Given the description of an element on the screen output the (x, y) to click on. 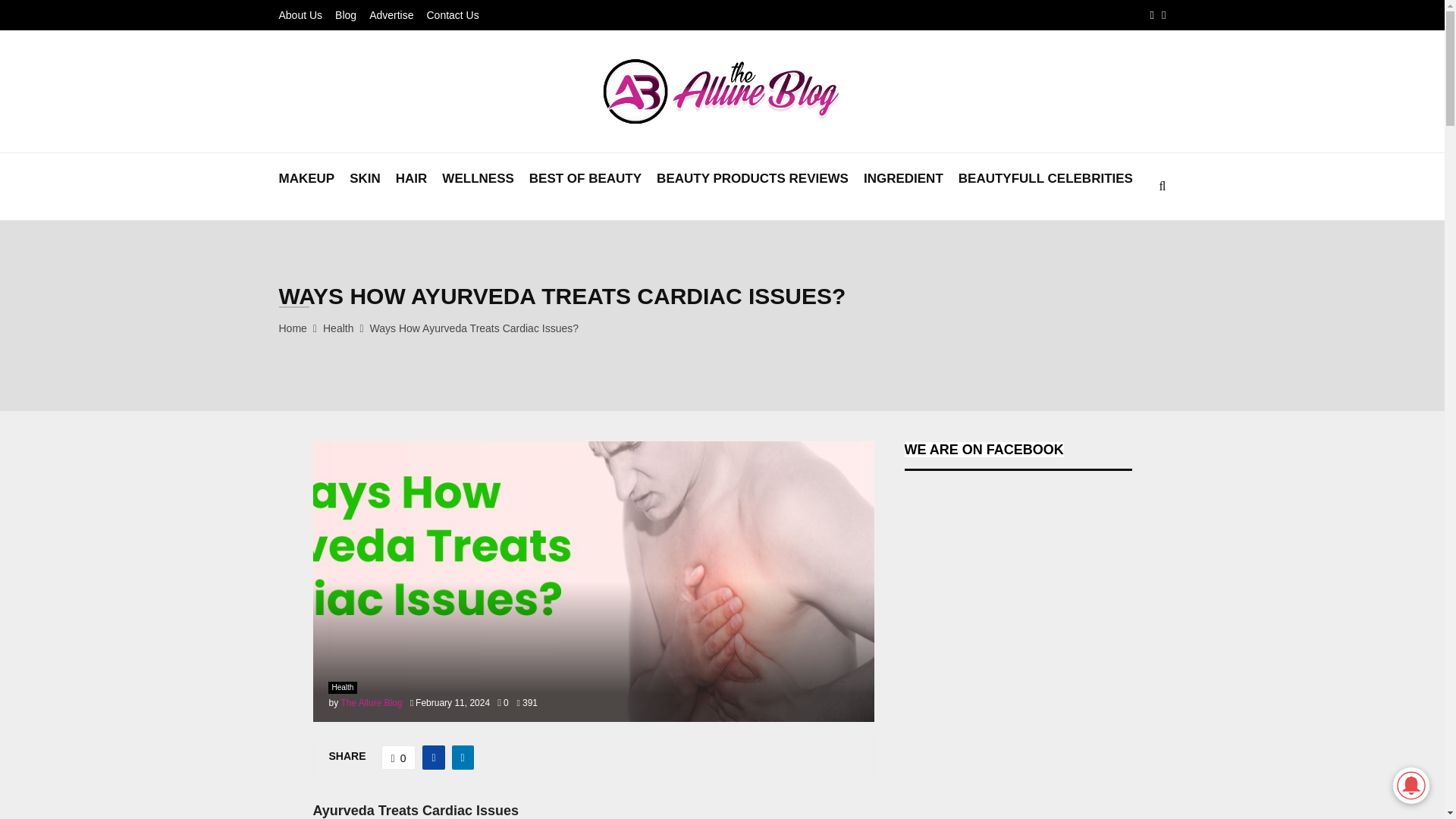
MAKEUP (306, 186)
The Allure Blog (370, 702)
About Us (301, 15)
Ways How Ayurveda Treats Cardiac Issues? (473, 328)
Facebook (1152, 15)
SKIN (364, 186)
Health (338, 328)
BEST OF BEAUTY (585, 186)
Linkedin (1163, 15)
0 (398, 757)
Facebook (1152, 15)
WELLNESS (477, 186)
Contact Us (452, 15)
Linkedin (1163, 15)
INGREDIENT (903, 186)
